Given the description of an element on the screen output the (x, y) to click on. 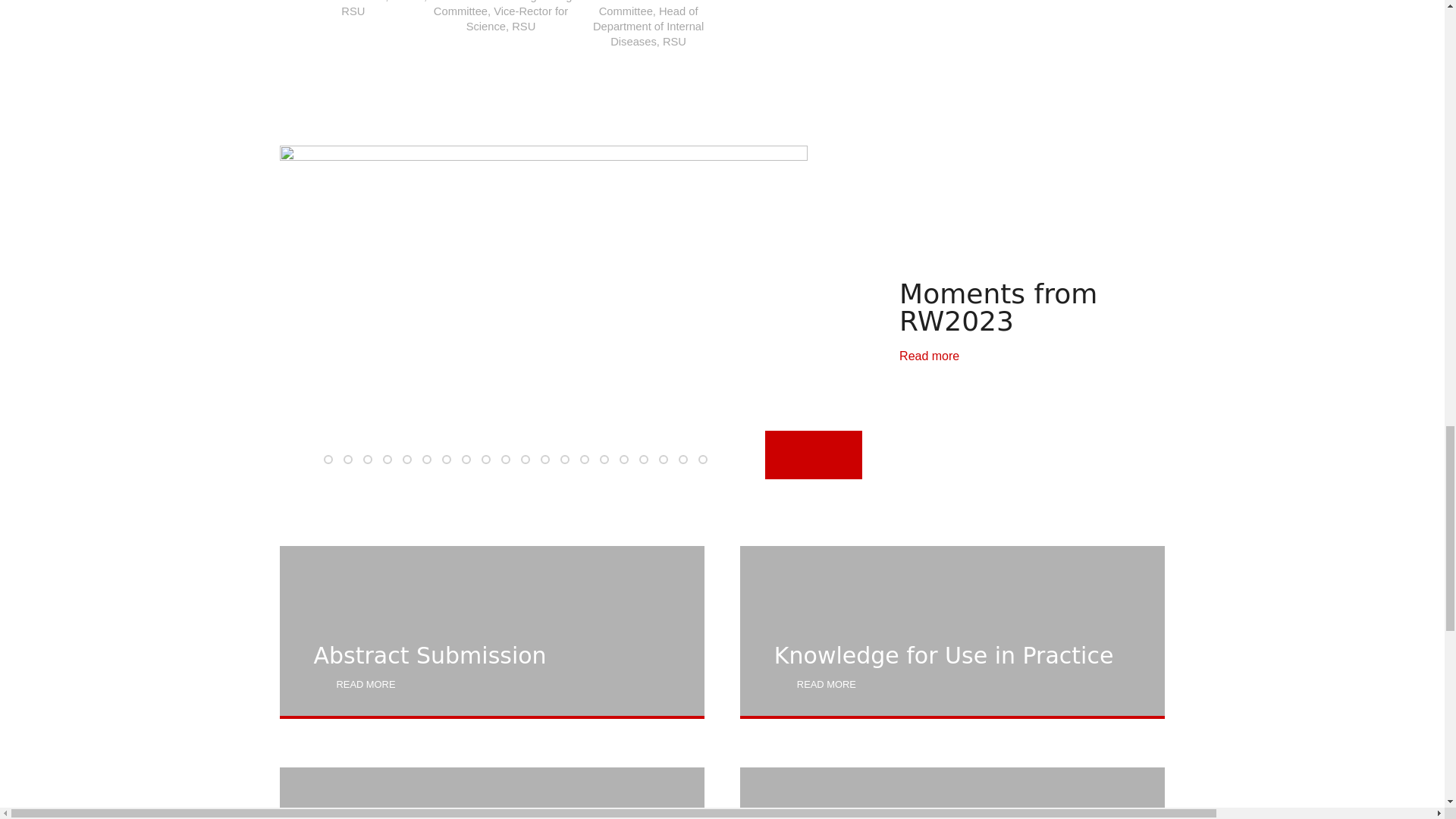
Moments from RW2023 (929, 355)
PLACES (491, 793)
Society. Health. Welfare. (952, 793)
Knowledge for Use in Practice (952, 632)
Abstract Submission (491, 632)
